Given the description of an element on the screen output the (x, y) to click on. 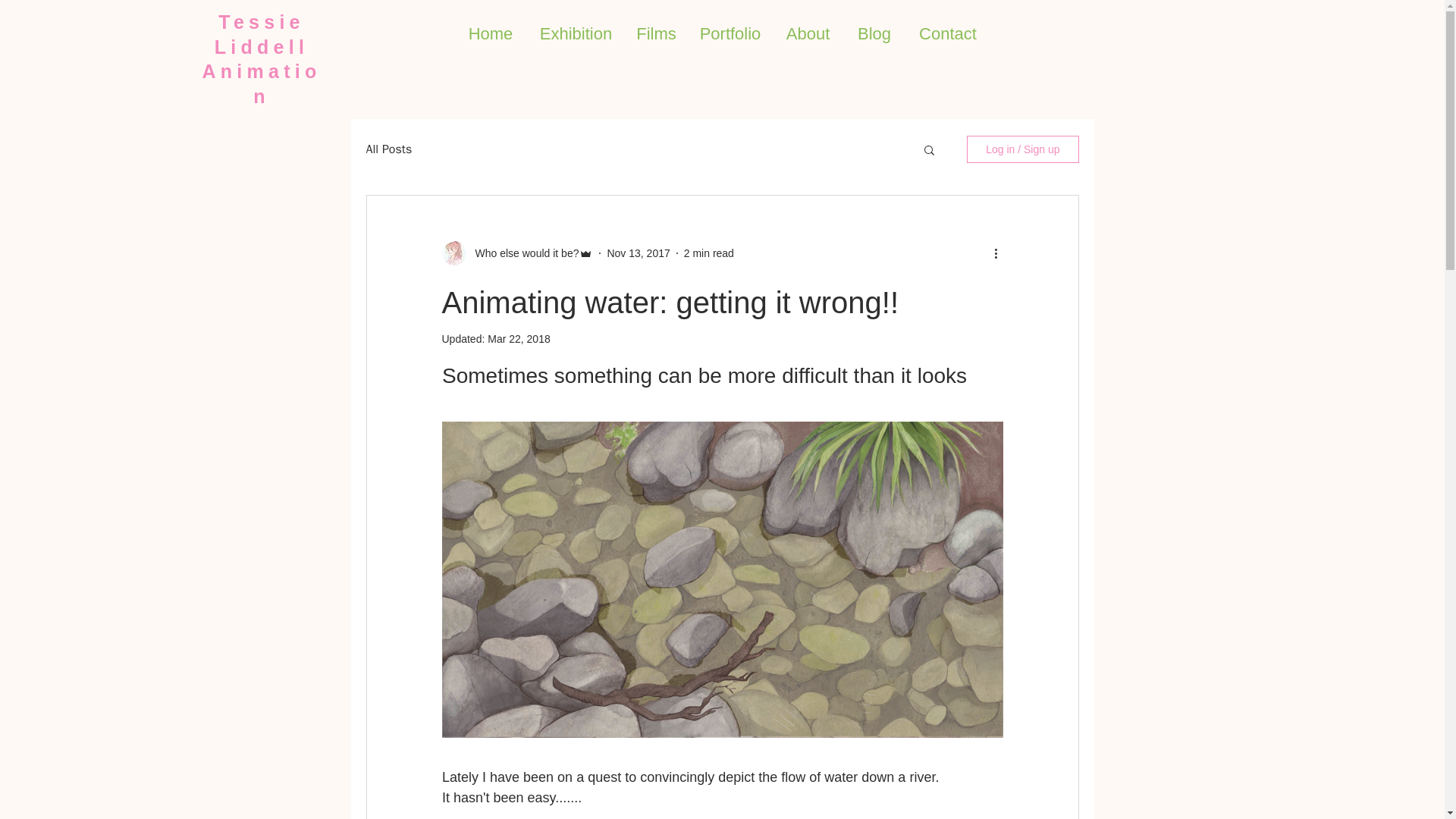
Tessie (261, 21)
Mar 22, 2018 (518, 338)
2 min read (708, 253)
Contact (948, 34)
Home (489, 34)
Who else would it be? (521, 253)
Exhibition (575, 34)
Nov 13, 2017 (638, 253)
Blog (873, 34)
Films (656, 34)
All Posts (388, 148)
About (807, 34)
Portfolio (730, 34)
